Given the description of an element on the screen output the (x, y) to click on. 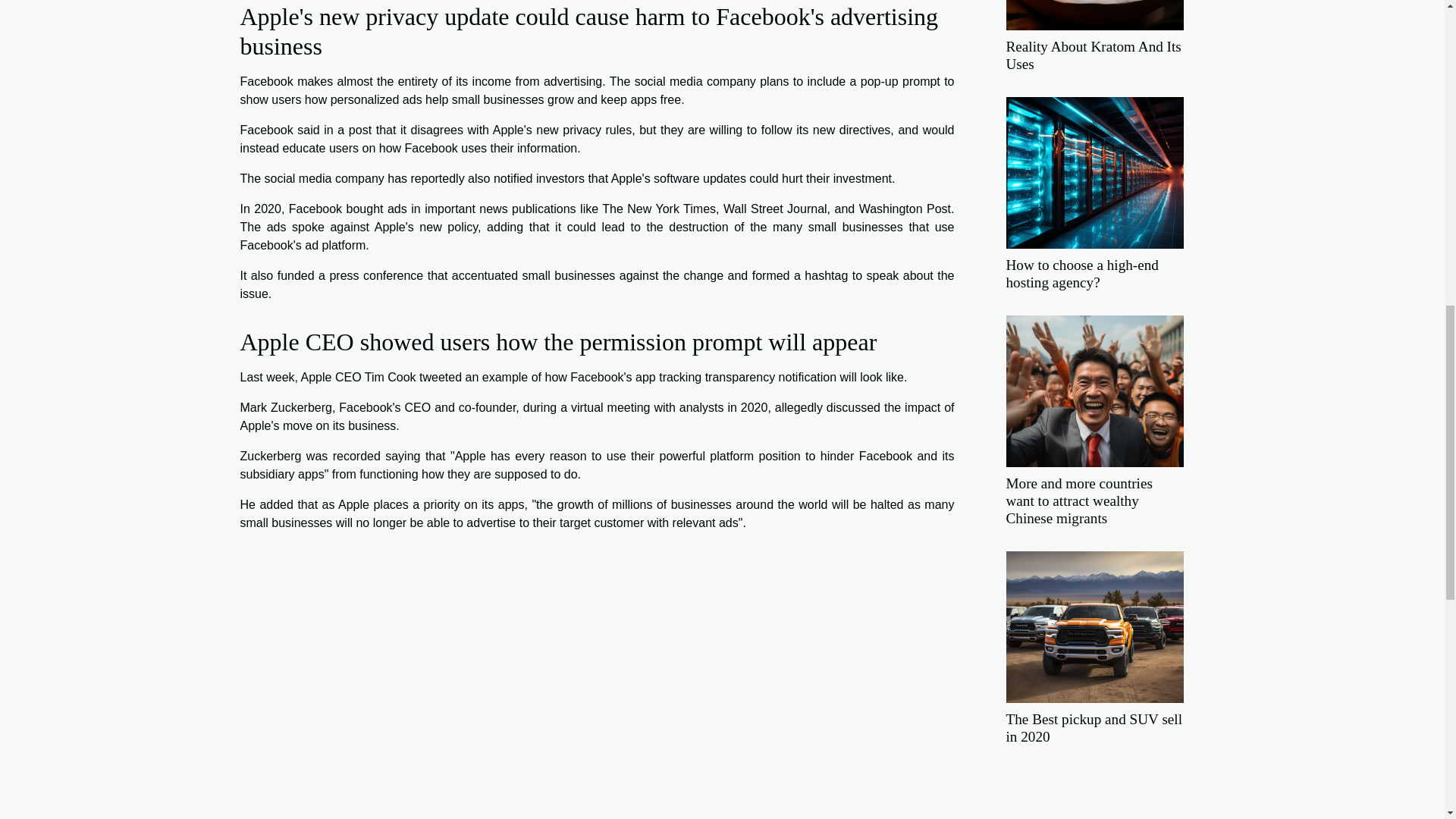
How to choose a high-end hosting agency? (1081, 273)
Reality About Kratom And Its Uses (1093, 55)
How to choose a high-end hosting agency? (1094, 171)
Reality About Kratom And Its Uses (1093, 55)
The Best pickup and SUV sell in 2020 (1094, 625)
How to choose a high-end hosting agency? (1081, 273)
The Best pickup and SUV sell in 2020 (1094, 727)
The Best pickup and SUV sell in 2020 (1094, 727)
